Given the description of an element on the screen output the (x, y) to click on. 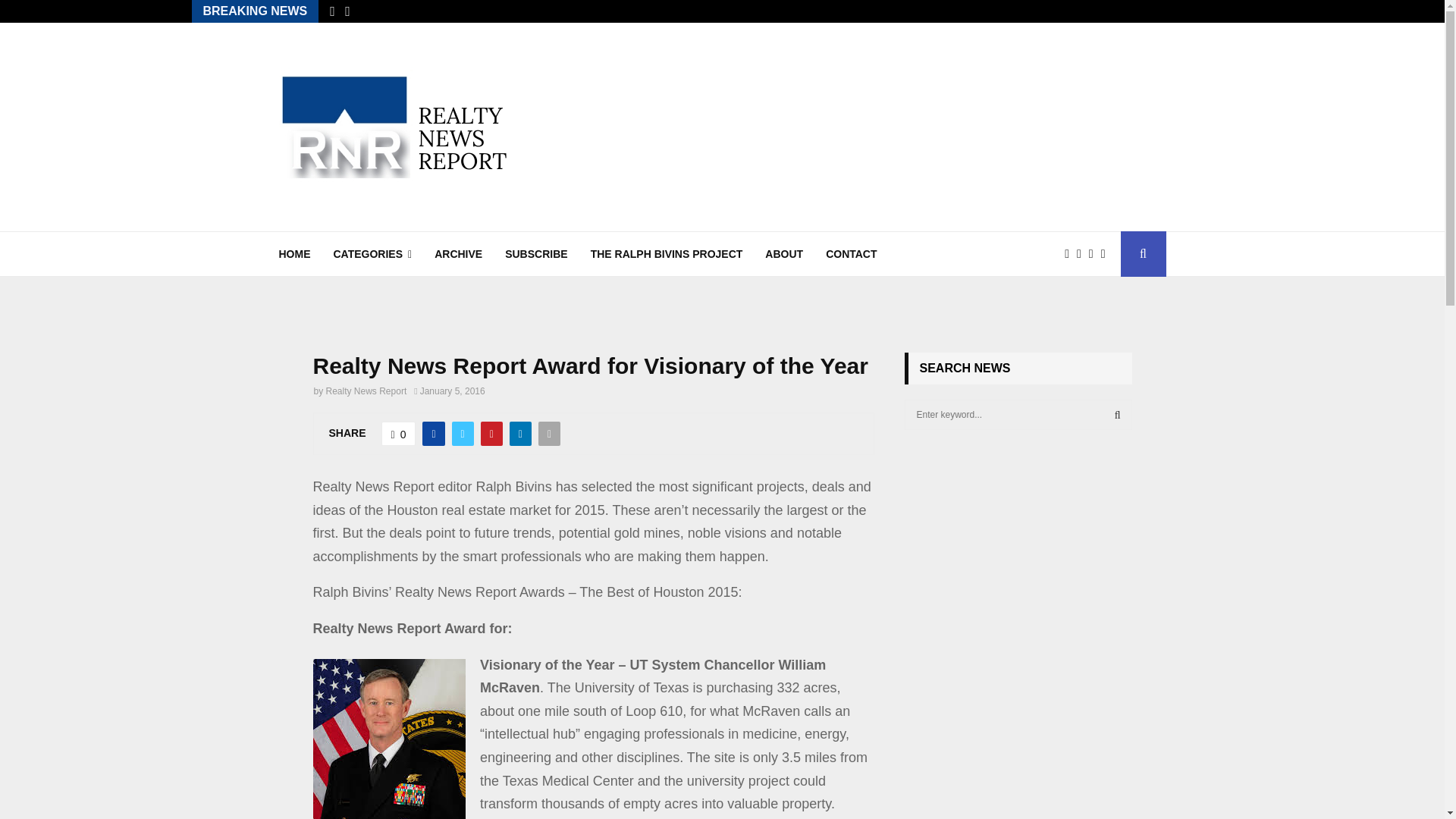
SUBSCRIBE (536, 253)
ARCHIVE (457, 253)
CONTACT (850, 253)
THE RALPH BIVINS PROJECT (666, 253)
Like (398, 433)
CATEGORIES (372, 253)
